Given the description of an element on the screen output the (x, y) to click on. 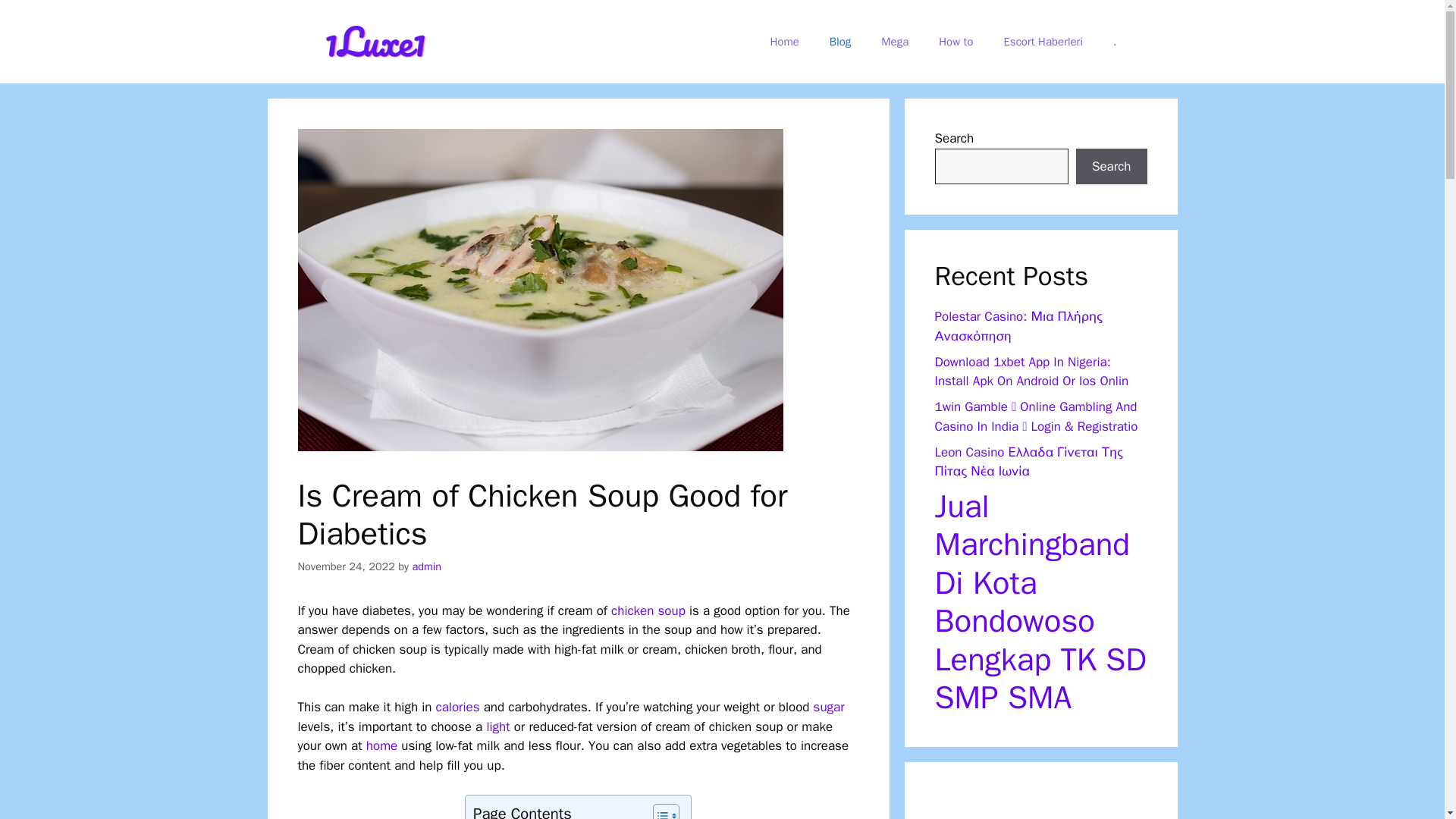
sugar (828, 706)
calories (457, 706)
home (381, 745)
Home (783, 41)
light (497, 726)
Escort Haberleri (1042, 41)
How to (955, 41)
View all posts by admin (426, 566)
Blog (839, 41)
admin (426, 566)
